Given the description of an element on the screen output the (x, y) to click on. 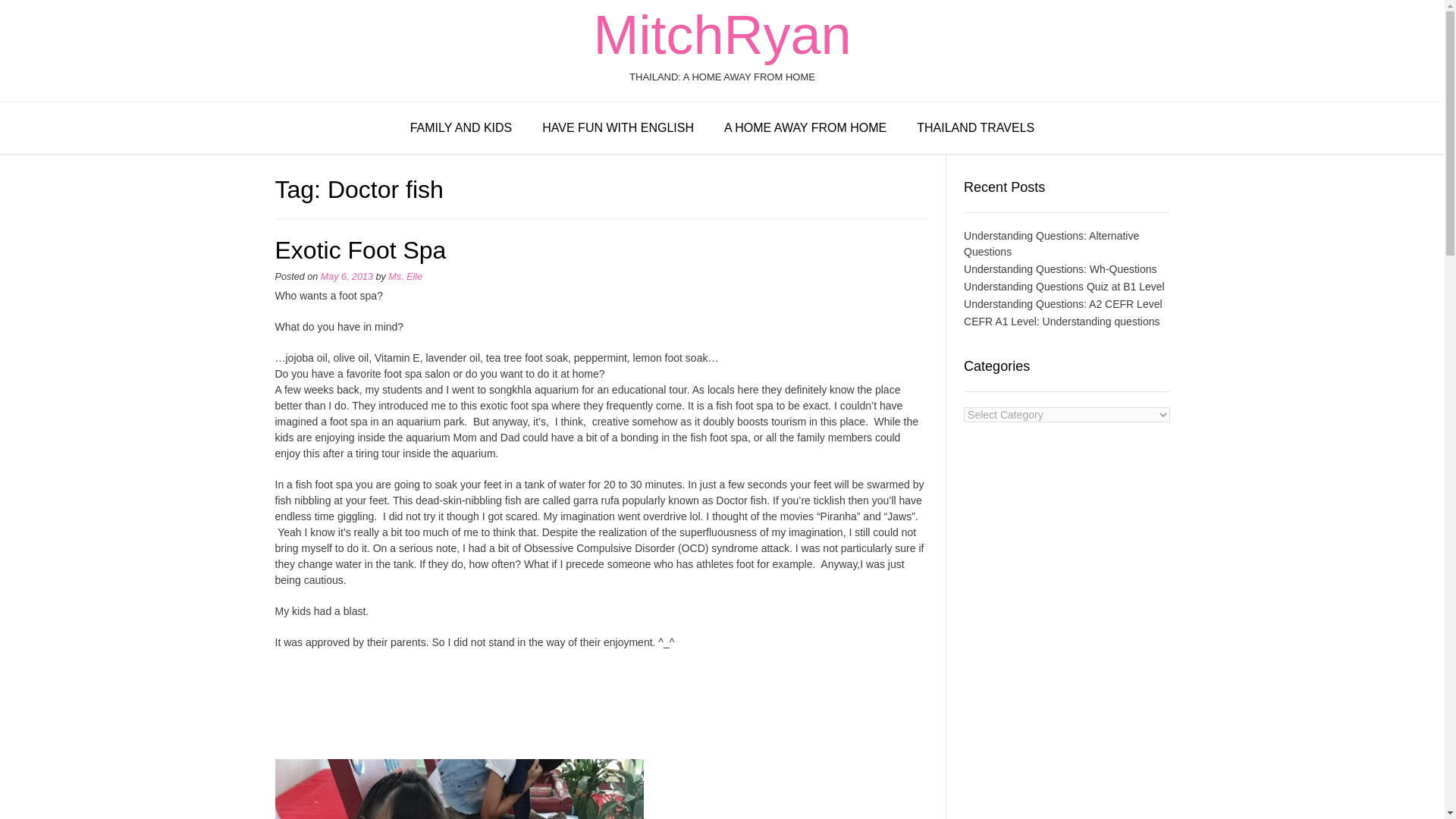
HAVE FUN WITH ENGLISH (618, 128)
THAILAND TRAVELS (975, 128)
May 6, 2013 (346, 276)
CEFR A1 Level: Understanding questions (1060, 321)
MitchRyan (721, 34)
Exotic Foot Spa (360, 249)
Understanding Questions: Alternative Questions (1050, 243)
MitchRyan (721, 34)
FAMILY AND KIDS (460, 128)
Understanding Questions: Wh-Questions (1059, 268)
